Given the description of an element on the screen output the (x, y) to click on. 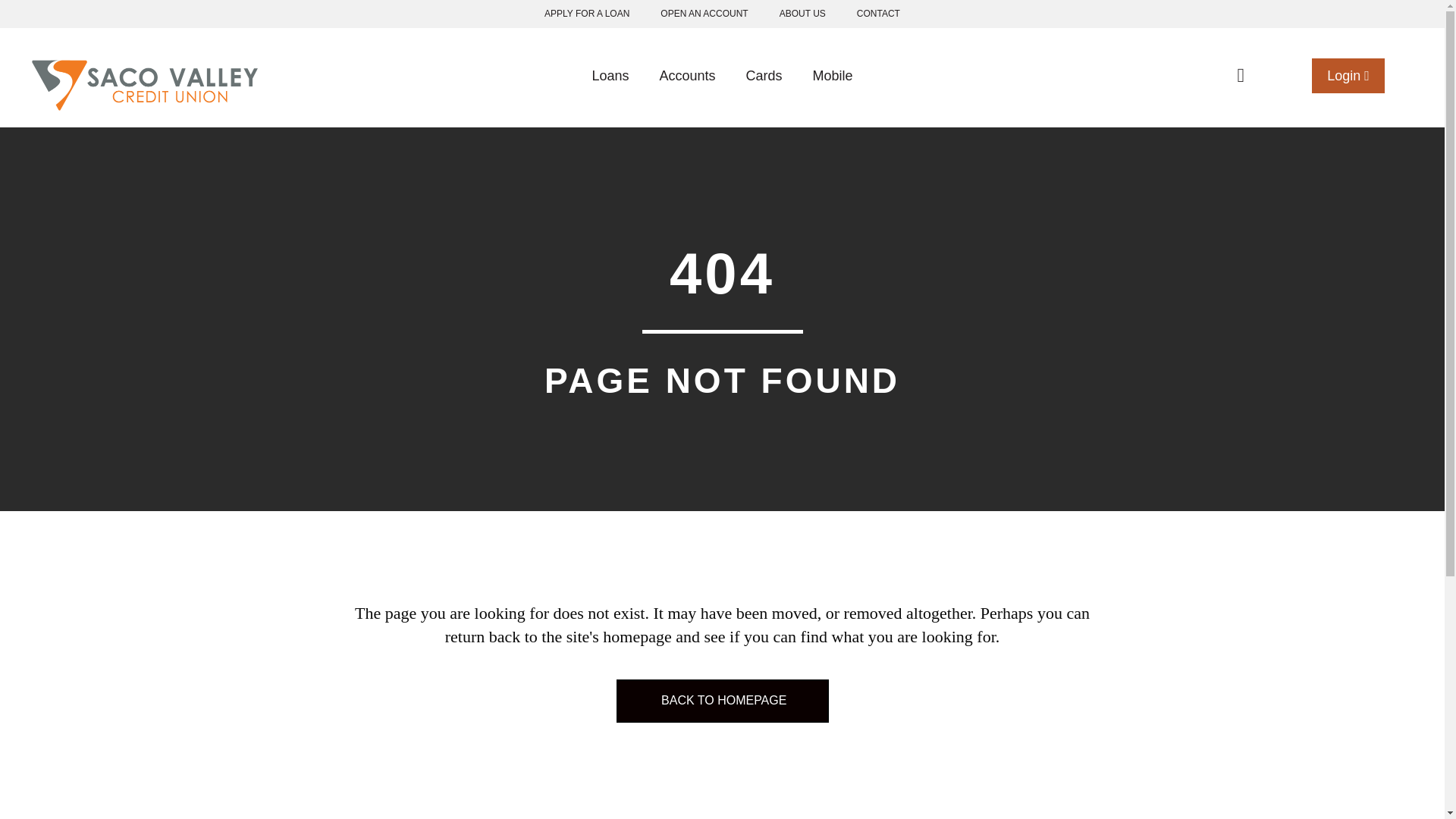
CONTACT (878, 15)
Saco Valley Logo (143, 84)
APPLY FOR A LOAN (587, 15)
Loans (609, 96)
Cards (763, 96)
Accounts (686, 96)
Mobile (832, 96)
OPEN AN ACCOUNT (703, 15)
ABOUT US (802, 15)
